Given the description of an element on the screen output the (x, y) to click on. 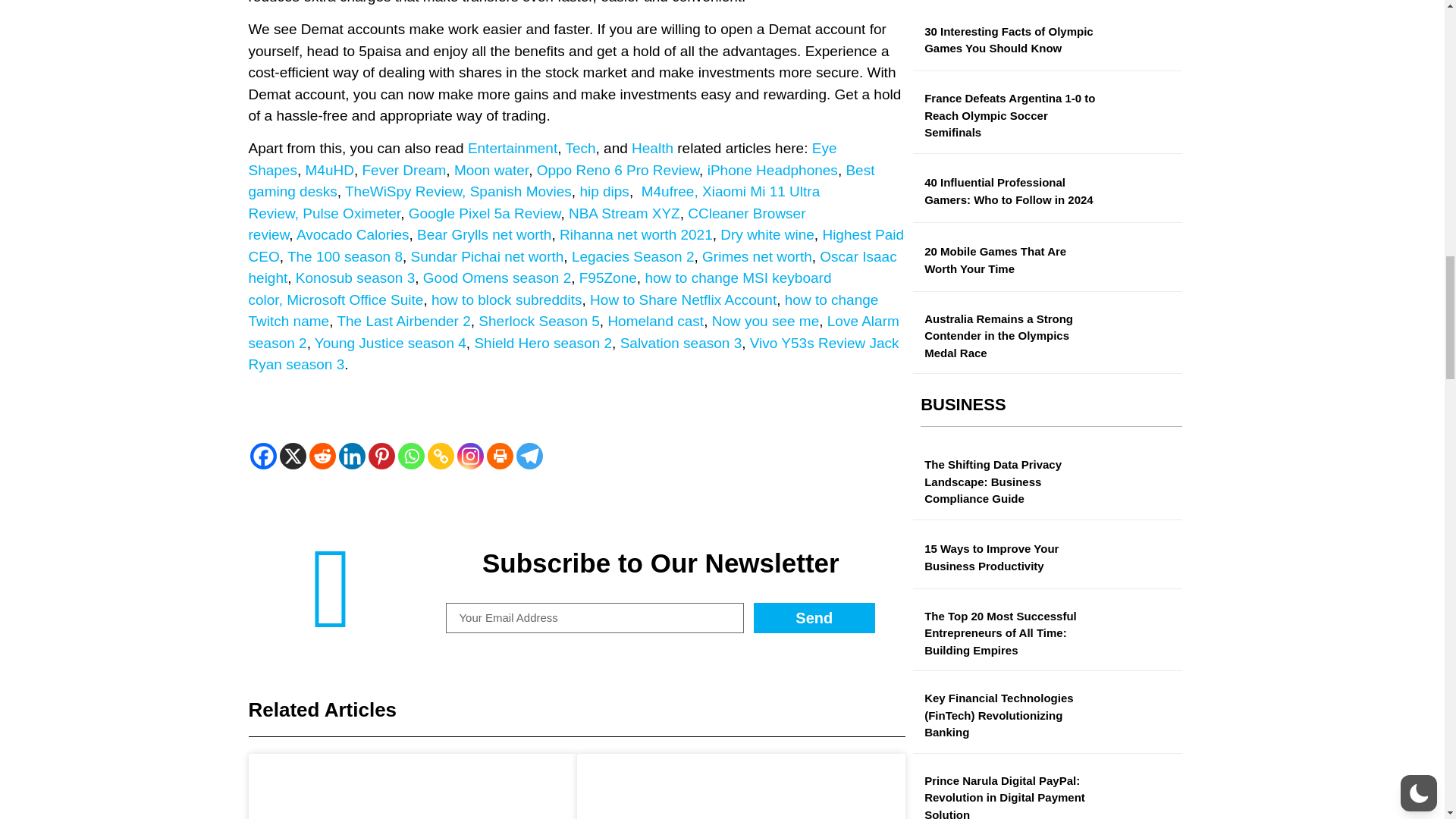
Whatsapp (410, 456)
Facebook (263, 456)
Pinterest (381, 456)
Copy Link (441, 456)
Instagram (470, 456)
Reddit (322, 456)
X (292, 456)
Linkedin (351, 456)
